Given the description of an element on the screen output the (x, y) to click on. 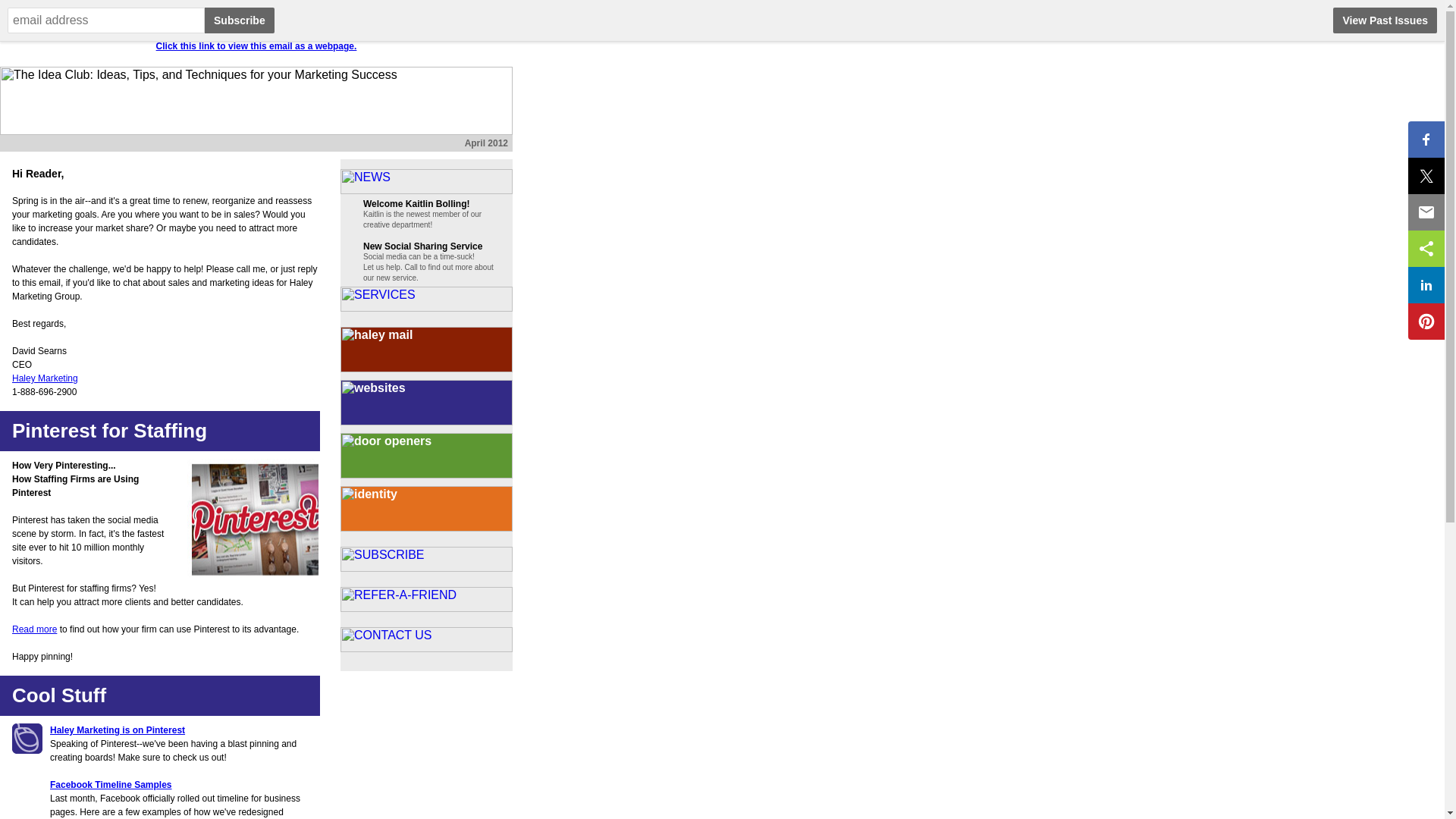
Haley Marketing is on Pinterest (116, 729)
Facebook Timeline Samples (110, 784)
Subscribe (240, 20)
Click this link to view this email as a webpage. (255, 45)
View Past Issues (1385, 20)
Haley Marketing (44, 378)
Subscribe (240, 20)
Read more (33, 629)
